Given the description of an element on the screen output the (x, y) to click on. 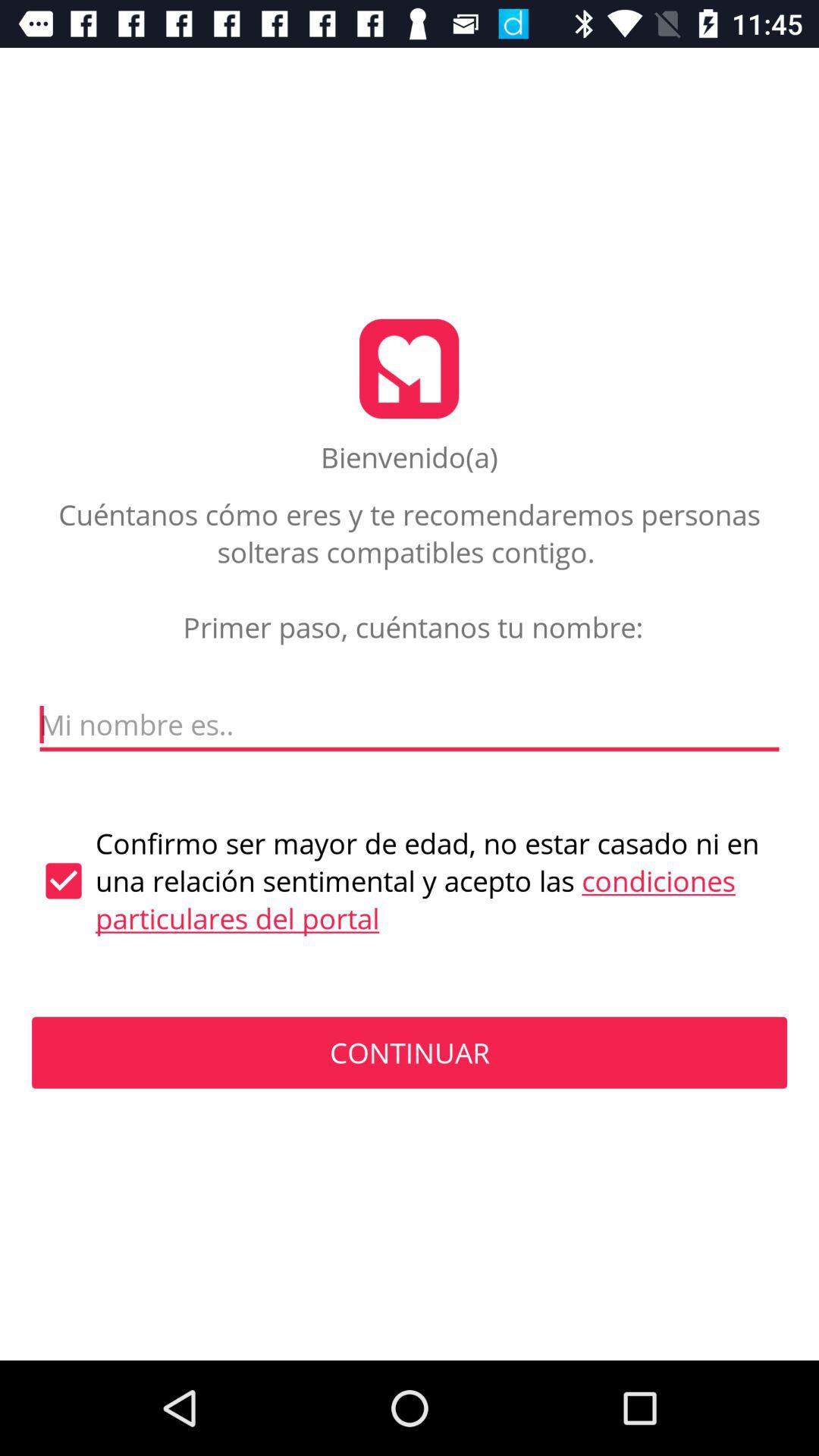
turn on the continuar item (409, 1052)
